Given the description of an element on the screen output the (x, y) to click on. 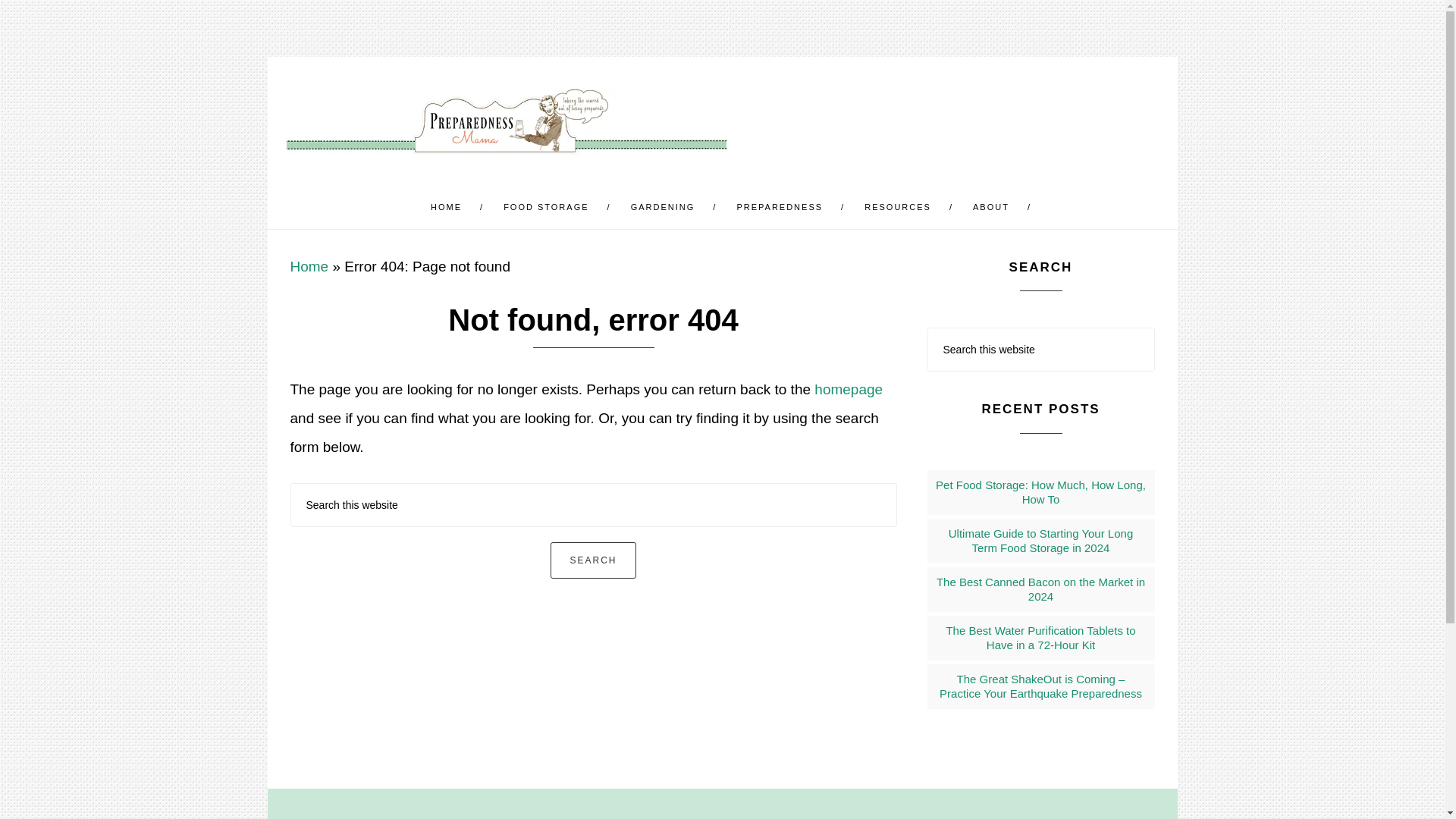
The Best Canned Bacon on the Market in 2024 (1040, 589)
PREPAREDNESSMAMA (506, 121)
Search (592, 560)
homepage (847, 389)
FOOD STORAGE (548, 207)
The Best Water Purification Tablets to Have in a 72-Hour Kit (1039, 637)
Pet Food Storage: How Much, How Long, How To (1040, 492)
PREPAREDNESS (781, 207)
